Given the description of an element on the screen output the (x, y) to click on. 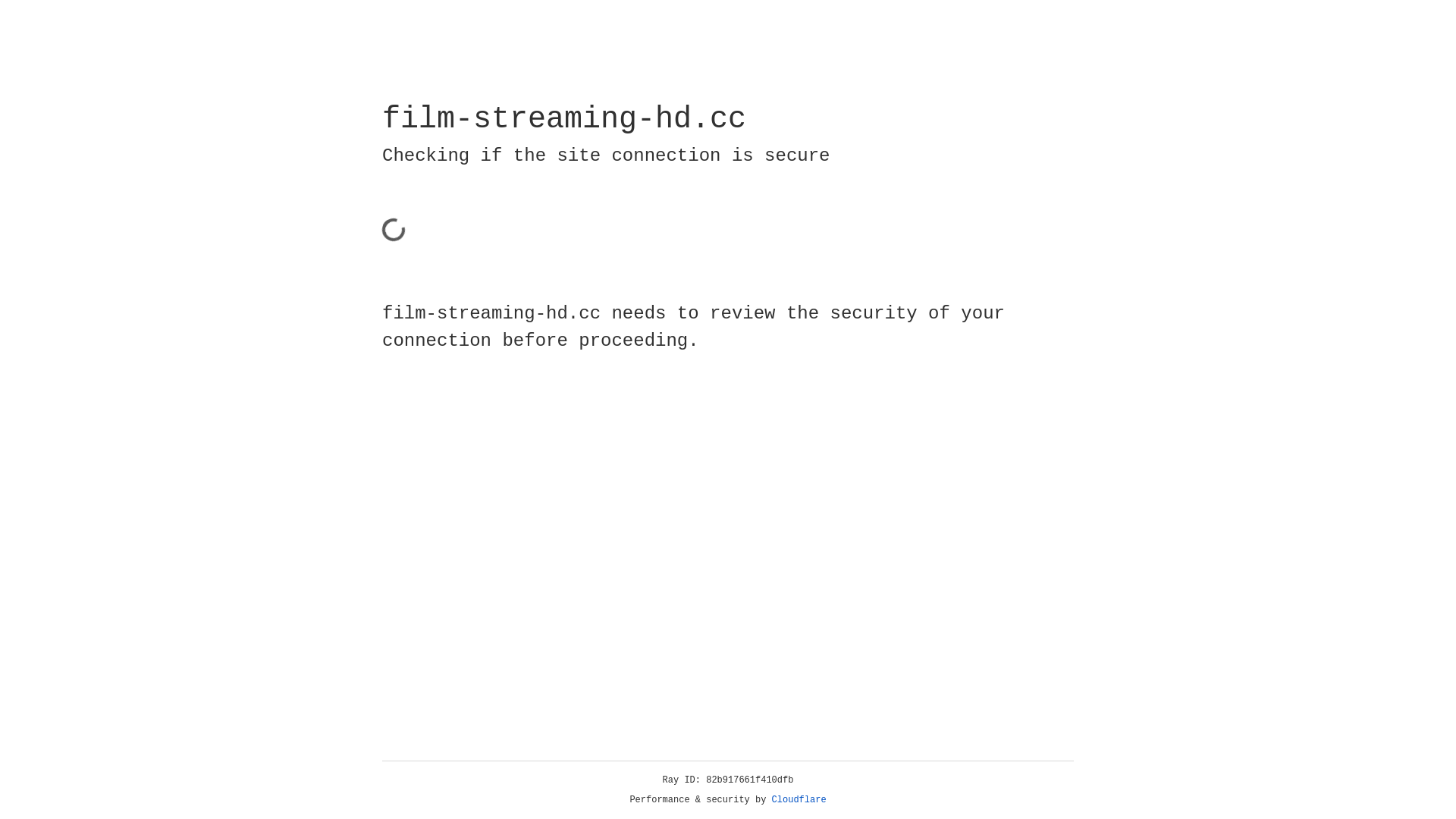
Cloudflare Element type: text (798, 799)
